Given the description of an element on the screen output the (x, y) to click on. 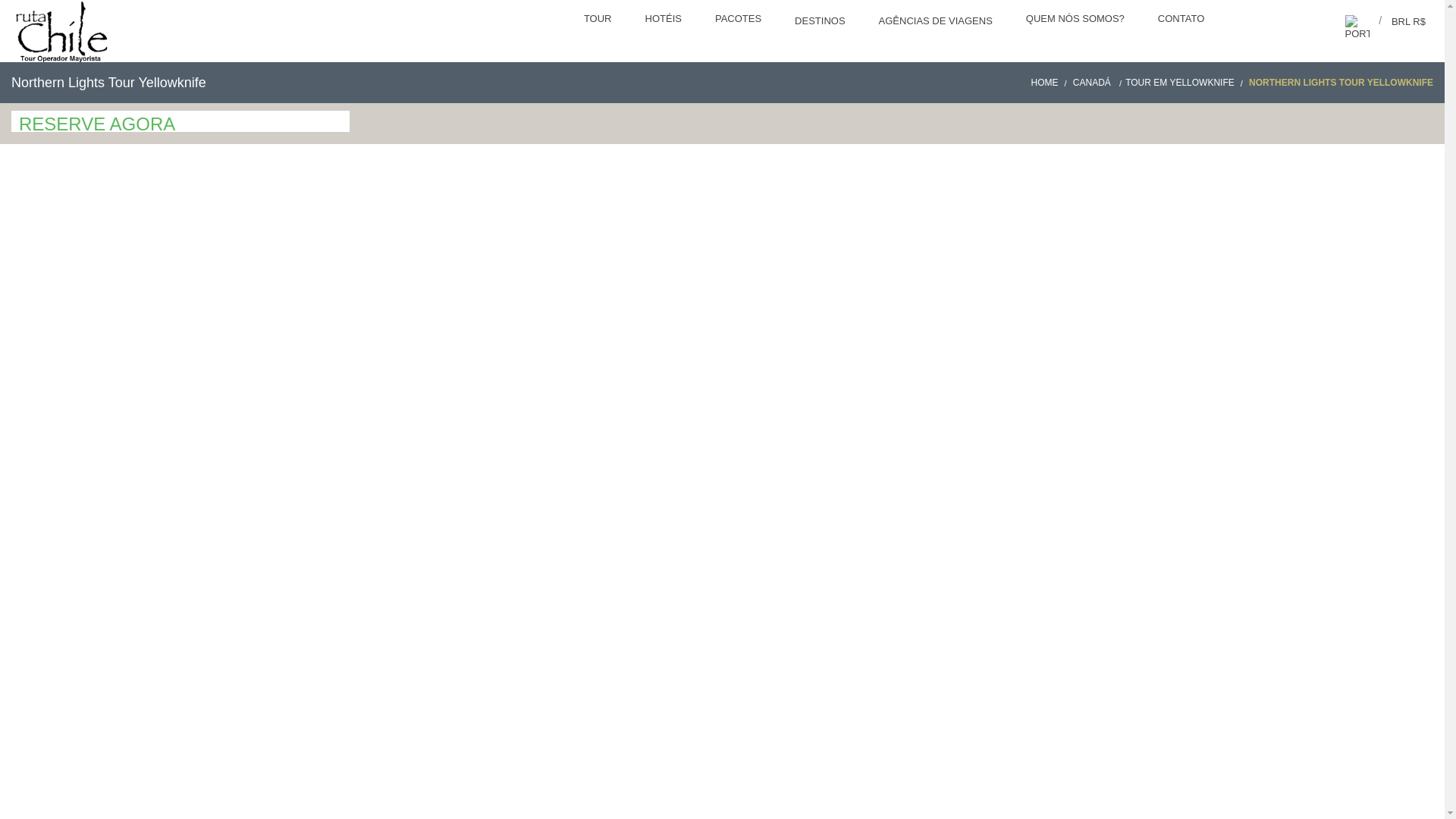
TOUR (599, 20)
TOUR EM YELLOWKNIFE (1185, 81)
HOME (1050, 81)
PACOTES (739, 20)
CONTATO (1182, 20)
DESTINOS (820, 22)
